Given the description of an element on the screen output the (x, y) to click on. 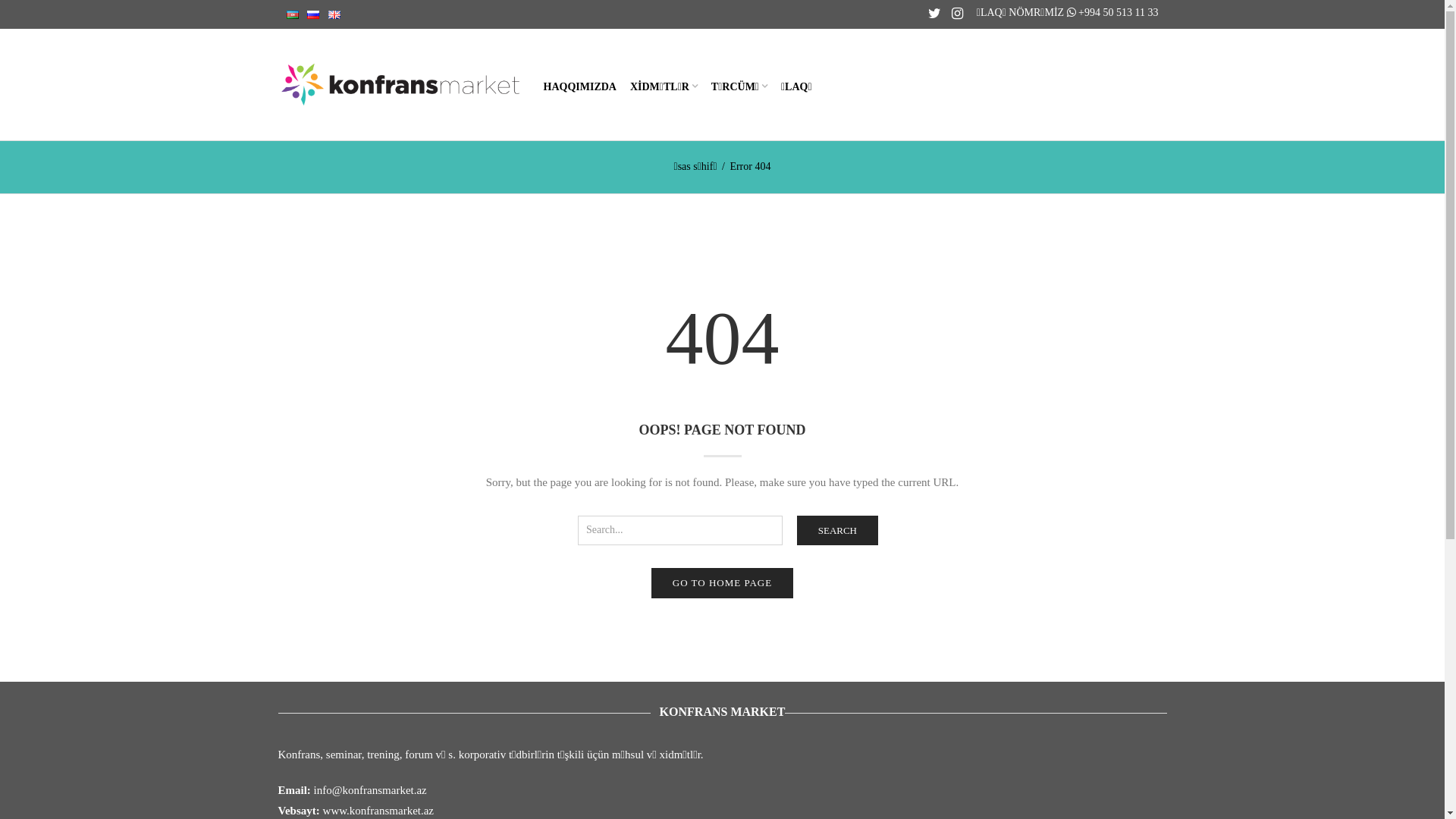
SEARCH Element type: text (837, 530)
HAQQIMIZDA Element type: text (579, 84)
GO TO HOME PAGE Element type: text (722, 582)
